Given the description of an element on the screen output the (x, y) to click on. 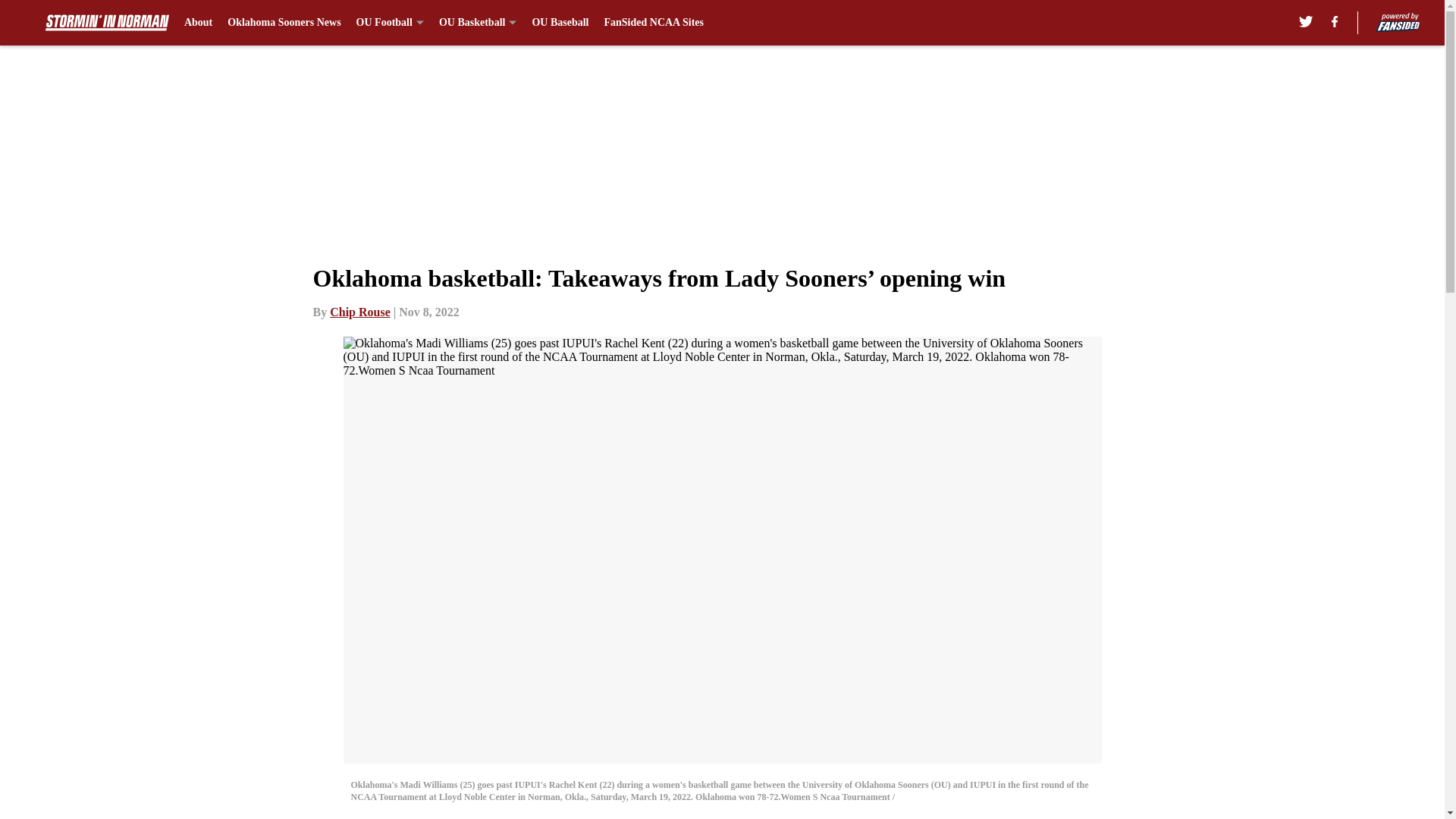
About (198, 22)
Oklahoma Sooners News (283, 22)
Chip Rouse (360, 311)
OU Baseball (559, 22)
FanSided NCAA Sites (653, 22)
